Given the description of an element on the screen output the (x, y) to click on. 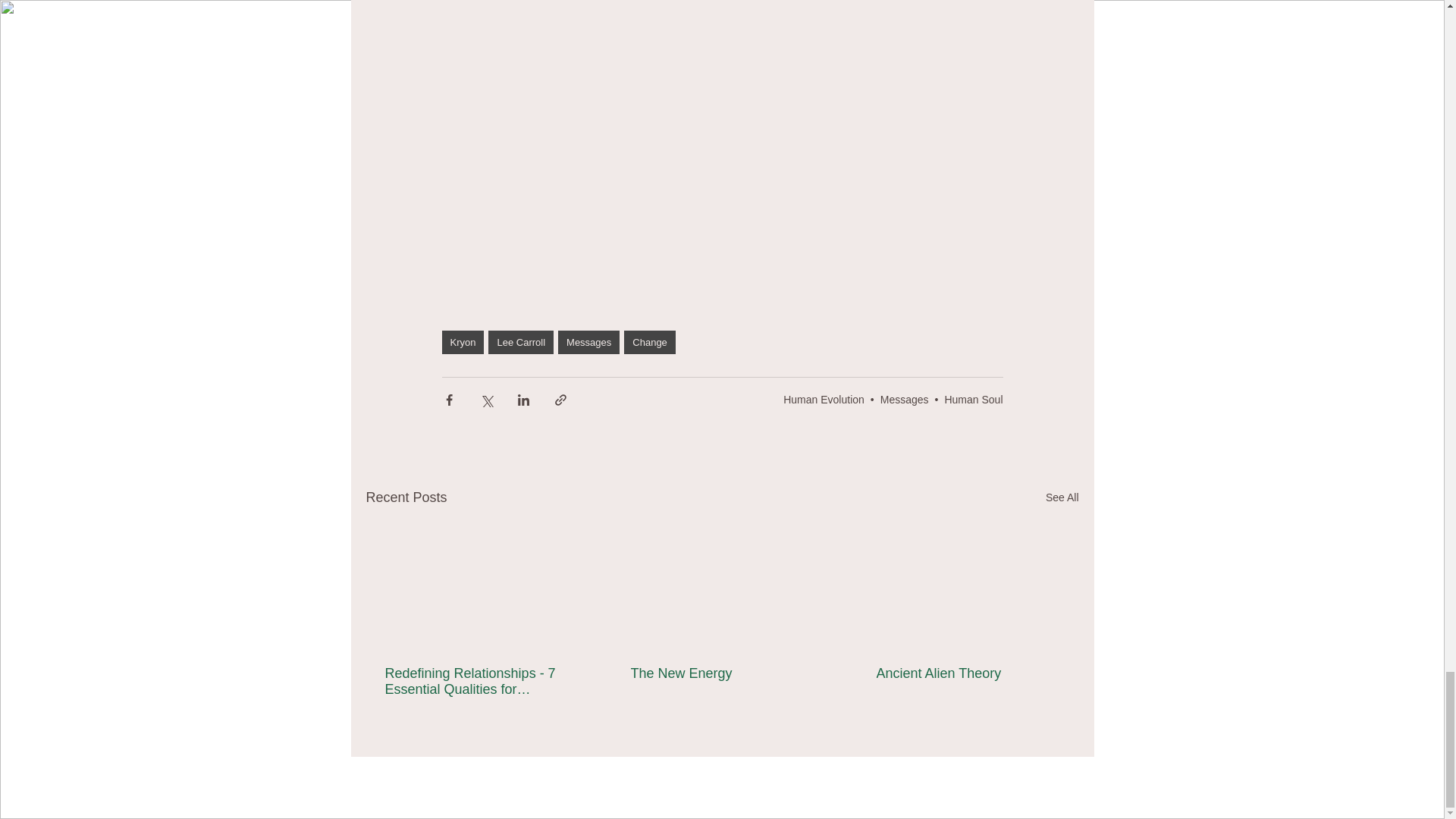
Messages (904, 399)
Messages (588, 341)
Kryon (462, 341)
Change (649, 341)
Human Evolution (823, 399)
Human Soul (973, 399)
The New Energy (721, 673)
Lee Carroll (520, 341)
Ancient Alien Theory (967, 673)
See All (1061, 497)
